Given the description of an element on the screen output the (x, y) to click on. 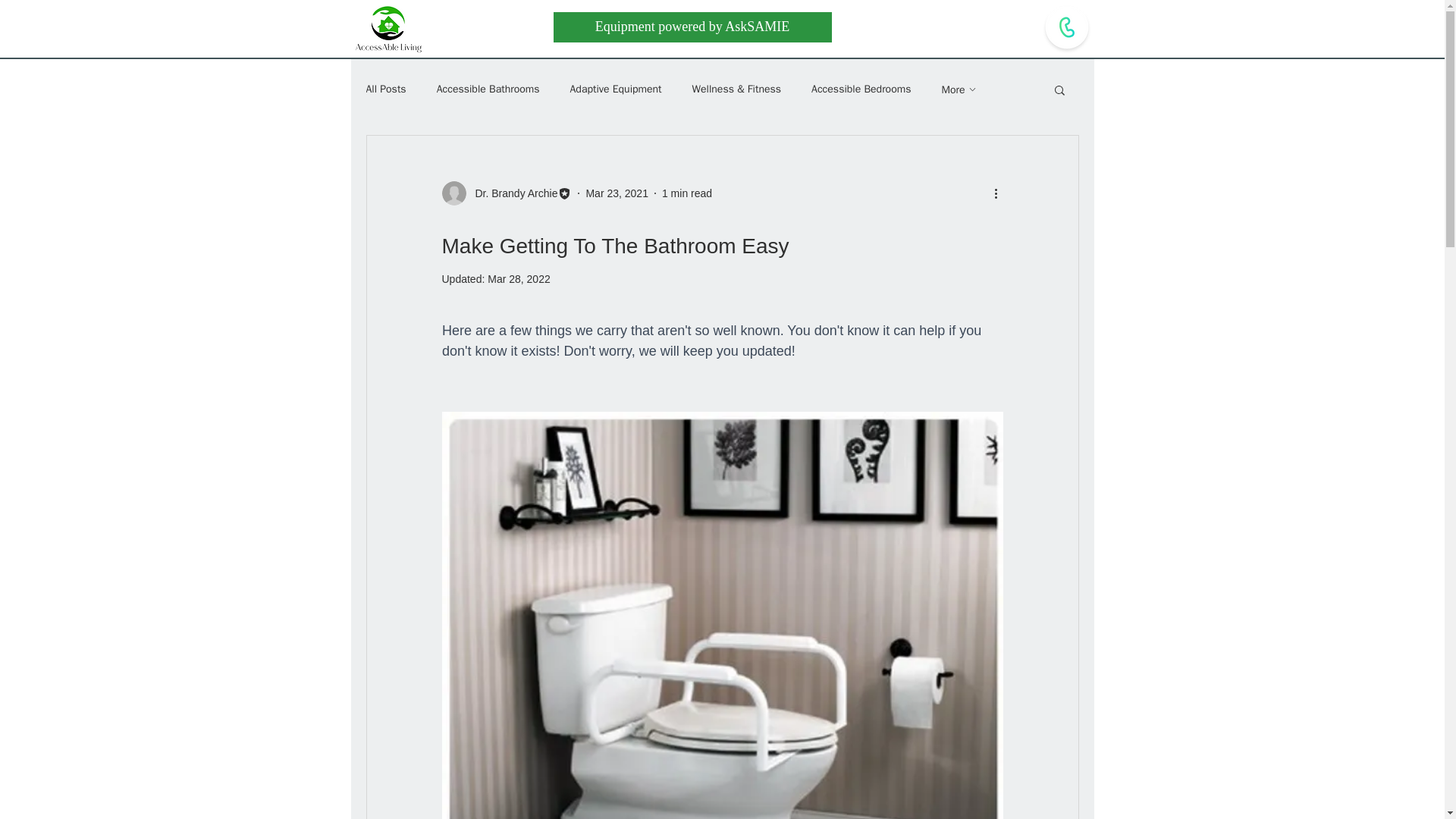
Mar 23, 2021 (616, 192)
All Posts (385, 89)
Accessible Bedrooms (860, 89)
1 min read (686, 192)
Dr. Brandy Archie (506, 192)
Dr. Brandy Archie (511, 192)
Equipment powered by AskSAMIE (692, 27)
Accessible Bathrooms (488, 89)
Mar 28, 2022 (518, 278)
Adaptive Equipment (616, 89)
